Given the description of an element on the screen output the (x, y) to click on. 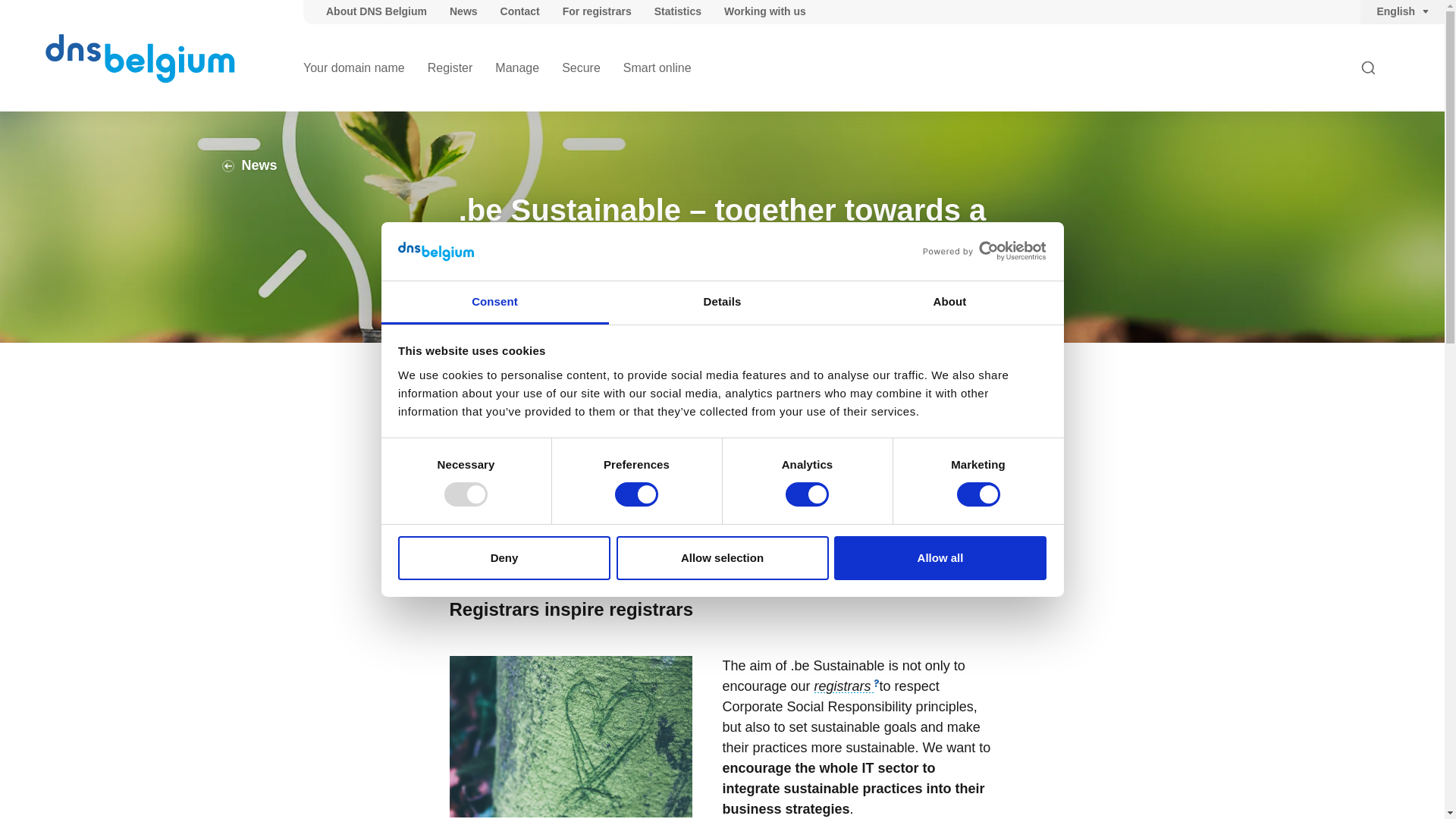
Green heart (569, 736)
About (948, 302)
Details (721, 302)
Consent (494, 302)
